Given the description of an element on the screen output the (x, y) to click on. 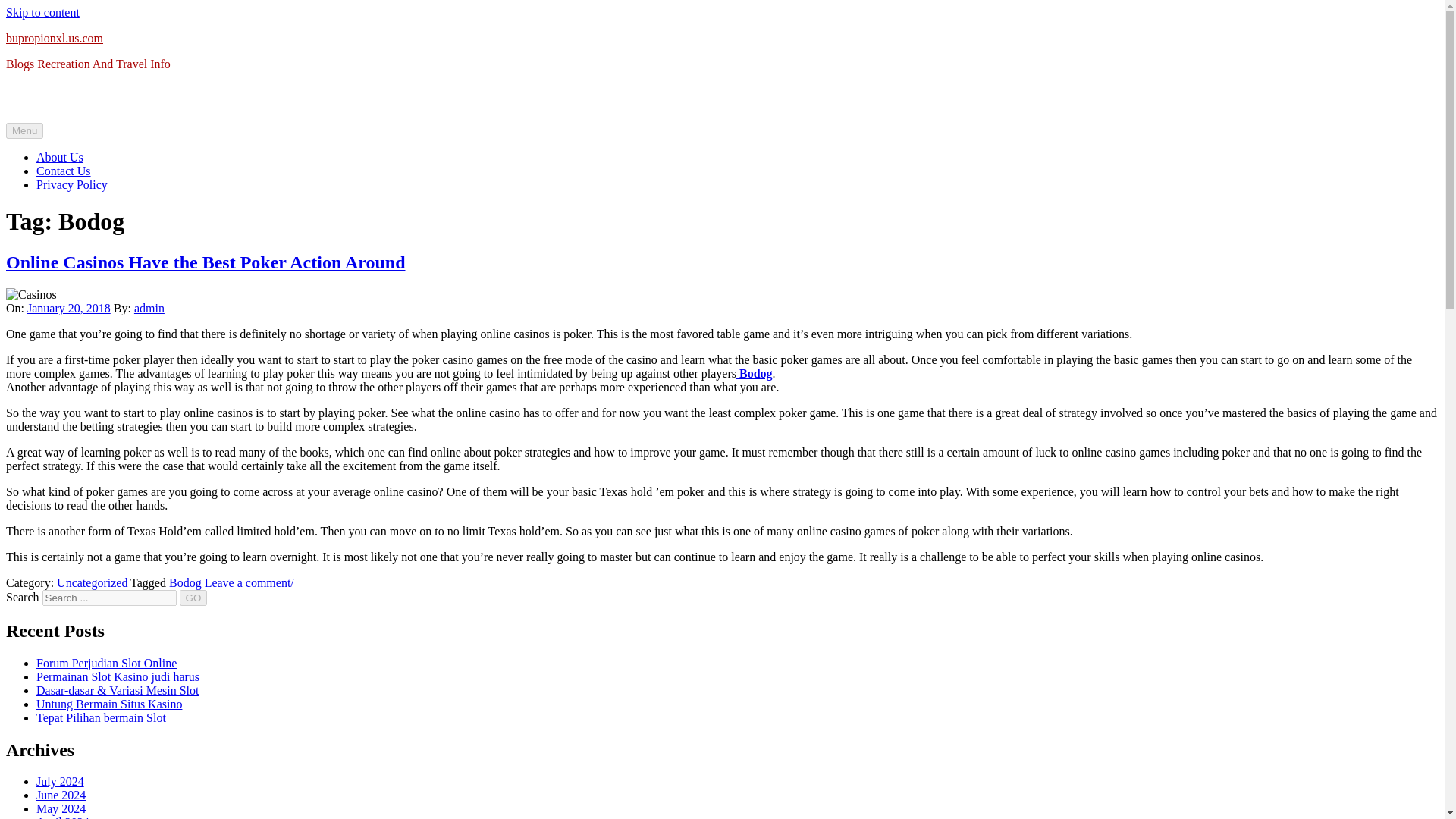
Contact Us (63, 170)
Tepat Pilihan bermain Slot (100, 717)
bupropionxl.us.com (54, 38)
January 20, 2018 (68, 308)
Uncategorized (92, 582)
GO (193, 597)
Online Casinos Have the Best Poker Action Around (205, 261)
admin (148, 308)
Untung Bermain Situs Kasino (109, 703)
Forum Perjudian Slot Online (106, 662)
Privacy Policy (71, 184)
Menu (24, 130)
Permainan Slot Kasino judi harus (117, 676)
May 2024 (60, 808)
June 2024 (60, 794)
